Given the description of an element on the screen output the (x, y) to click on. 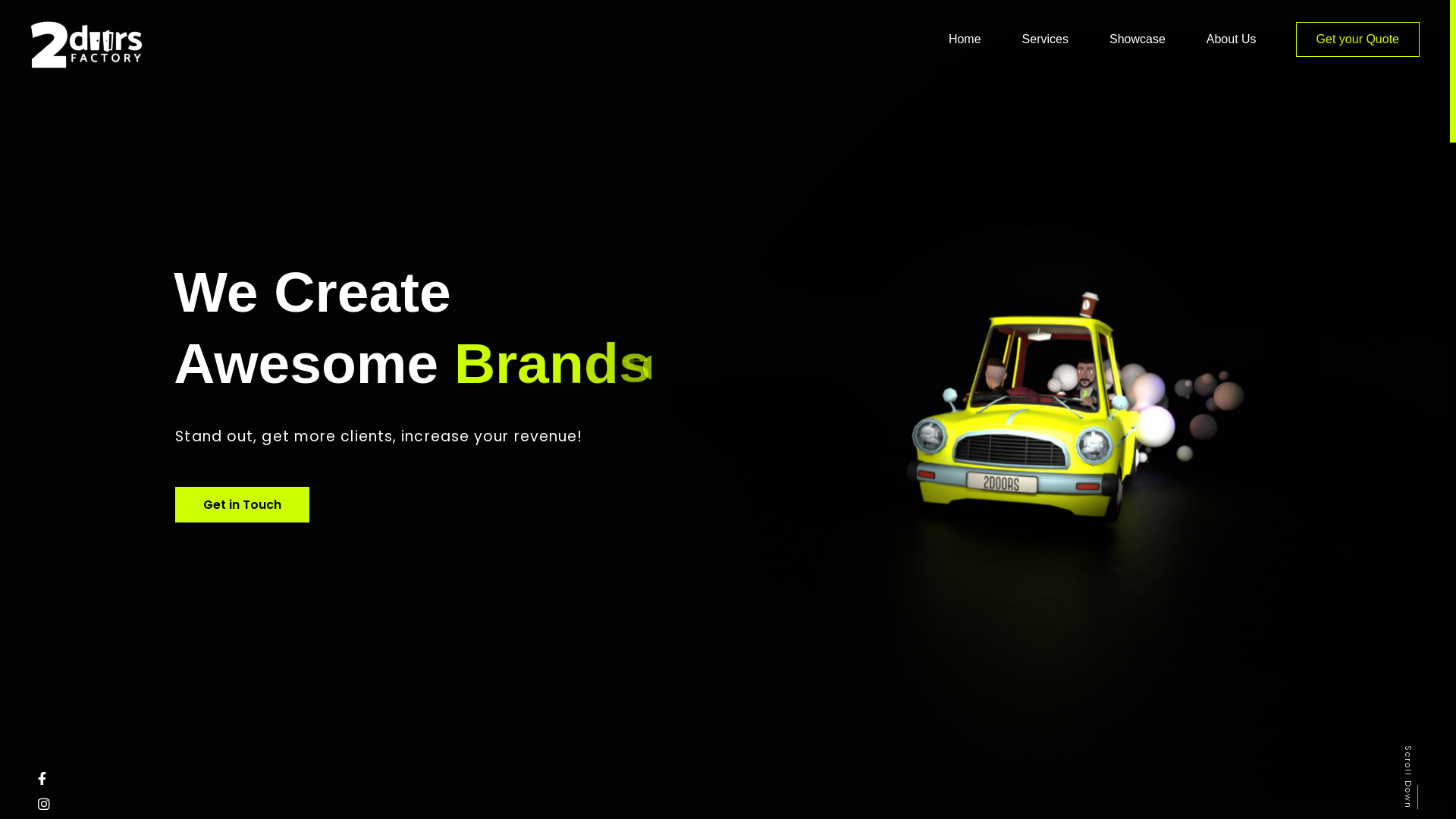
Get in Touch Element type: text (242, 504)
Home Element type: text (964, 38)
About Us Element type: text (1231, 38)
Showcase Element type: text (1137, 38)
Services Element type: text (1045, 38)
Get your Quote Element type: text (1357, 38)
